Given the description of an element on the screen output the (x, y) to click on. 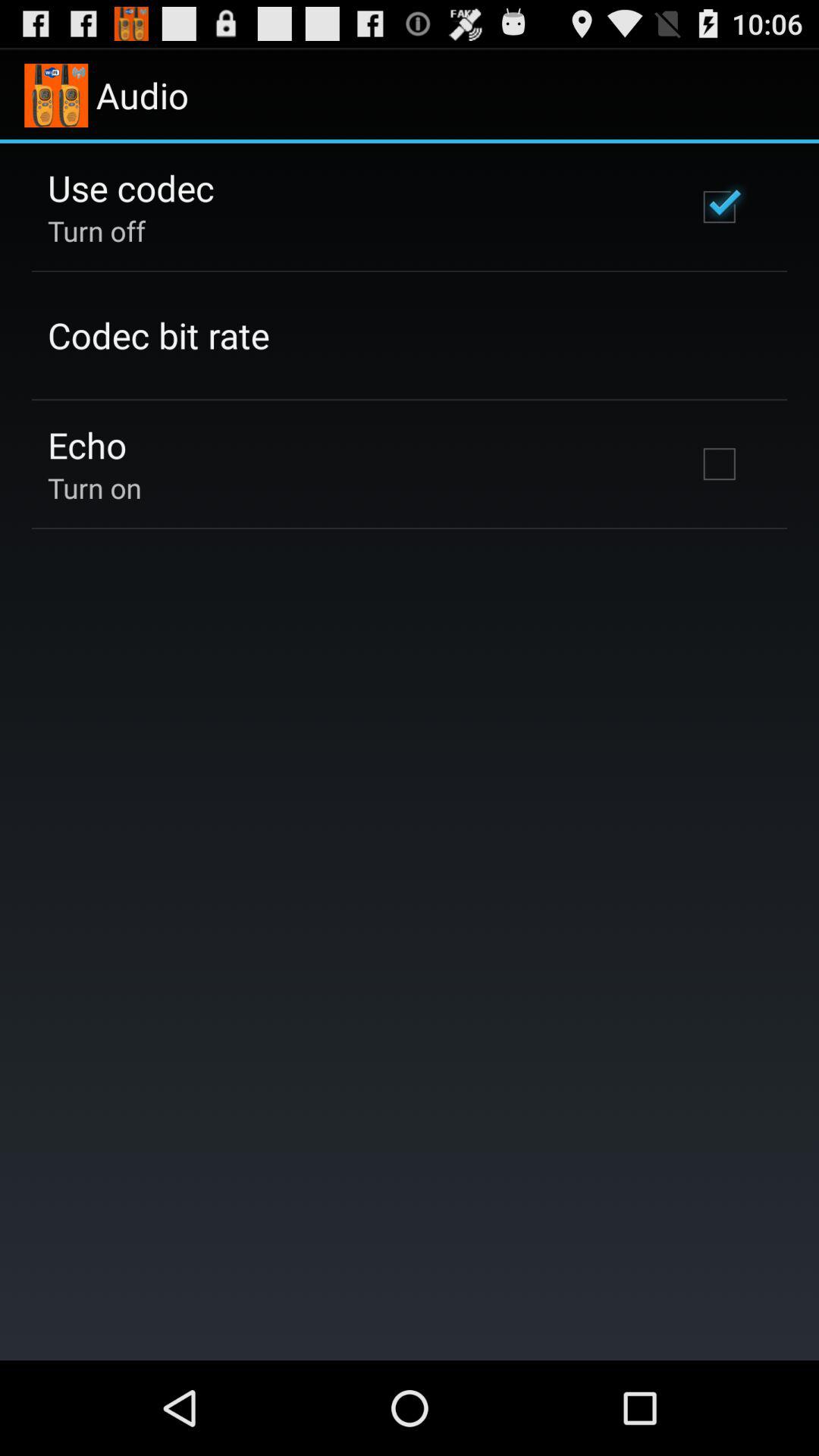
choose echo item (86, 444)
